Given the description of an element on the screen output the (x, y) to click on. 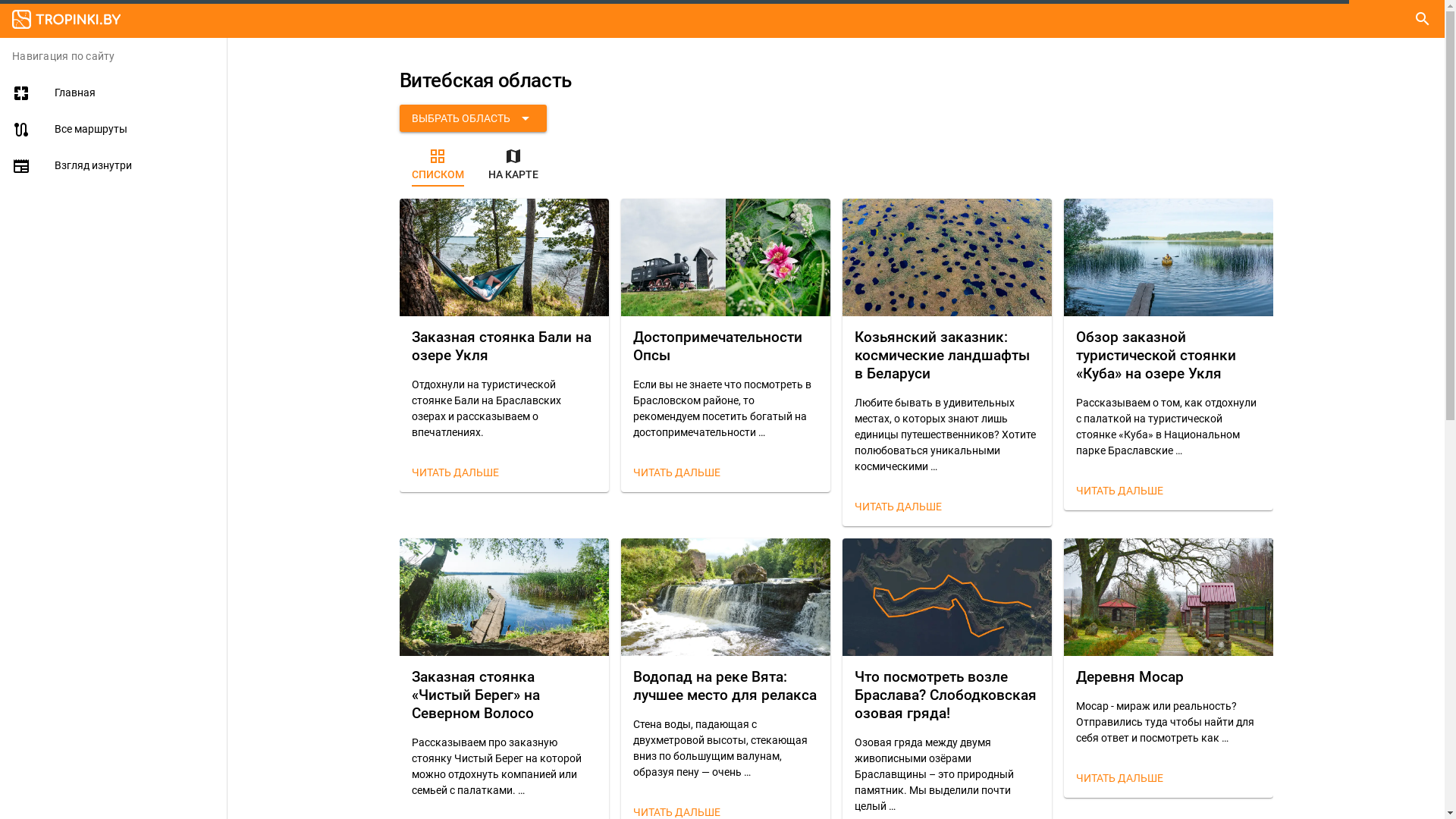
search Element type: text (1422, 18)
